Given the description of an element on the screen output the (x, y) to click on. 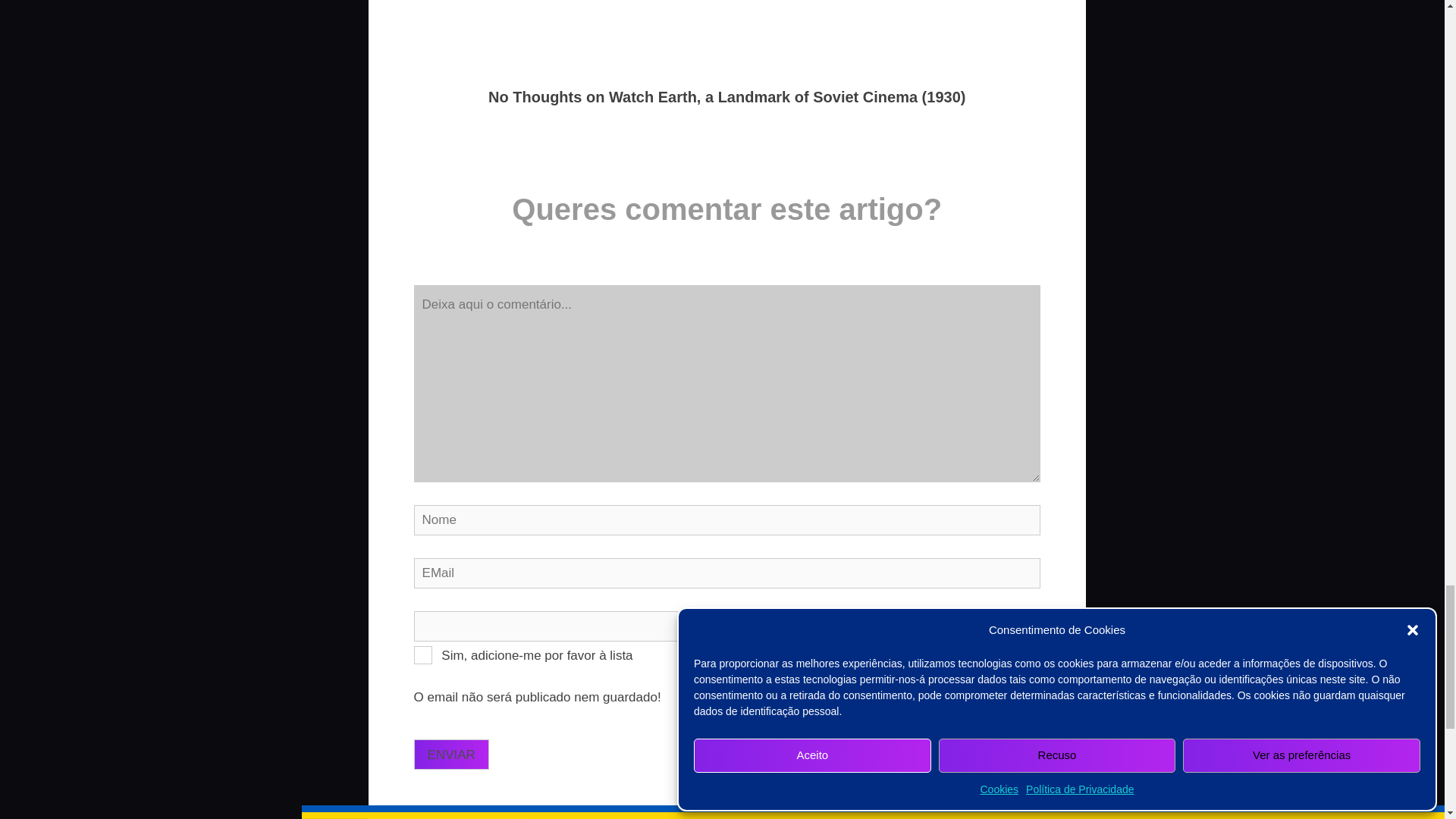
1 (422, 655)
Enviar (451, 754)
